Given the description of an element on the screen output the (x, y) to click on. 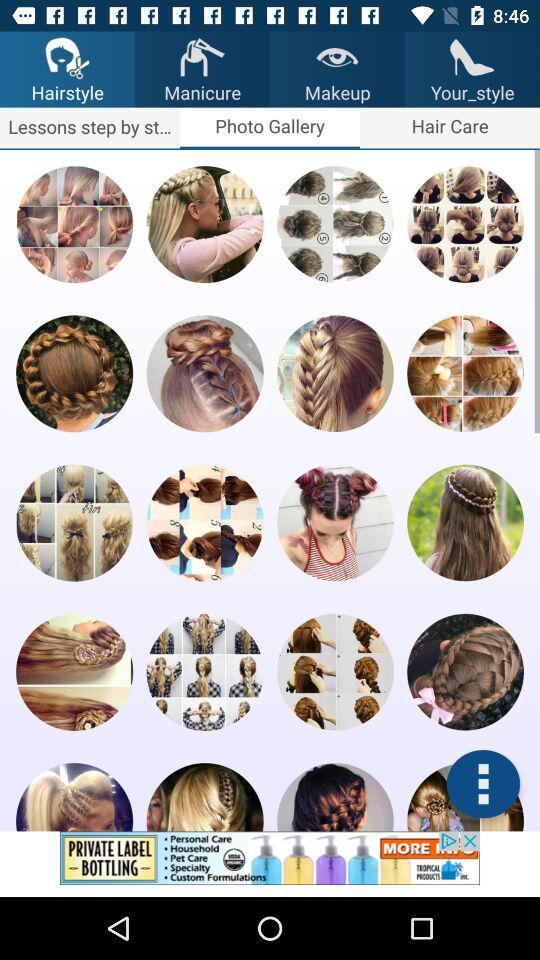
hairstyle thumbnail (465, 522)
